Given the description of an element on the screen output the (x, y) to click on. 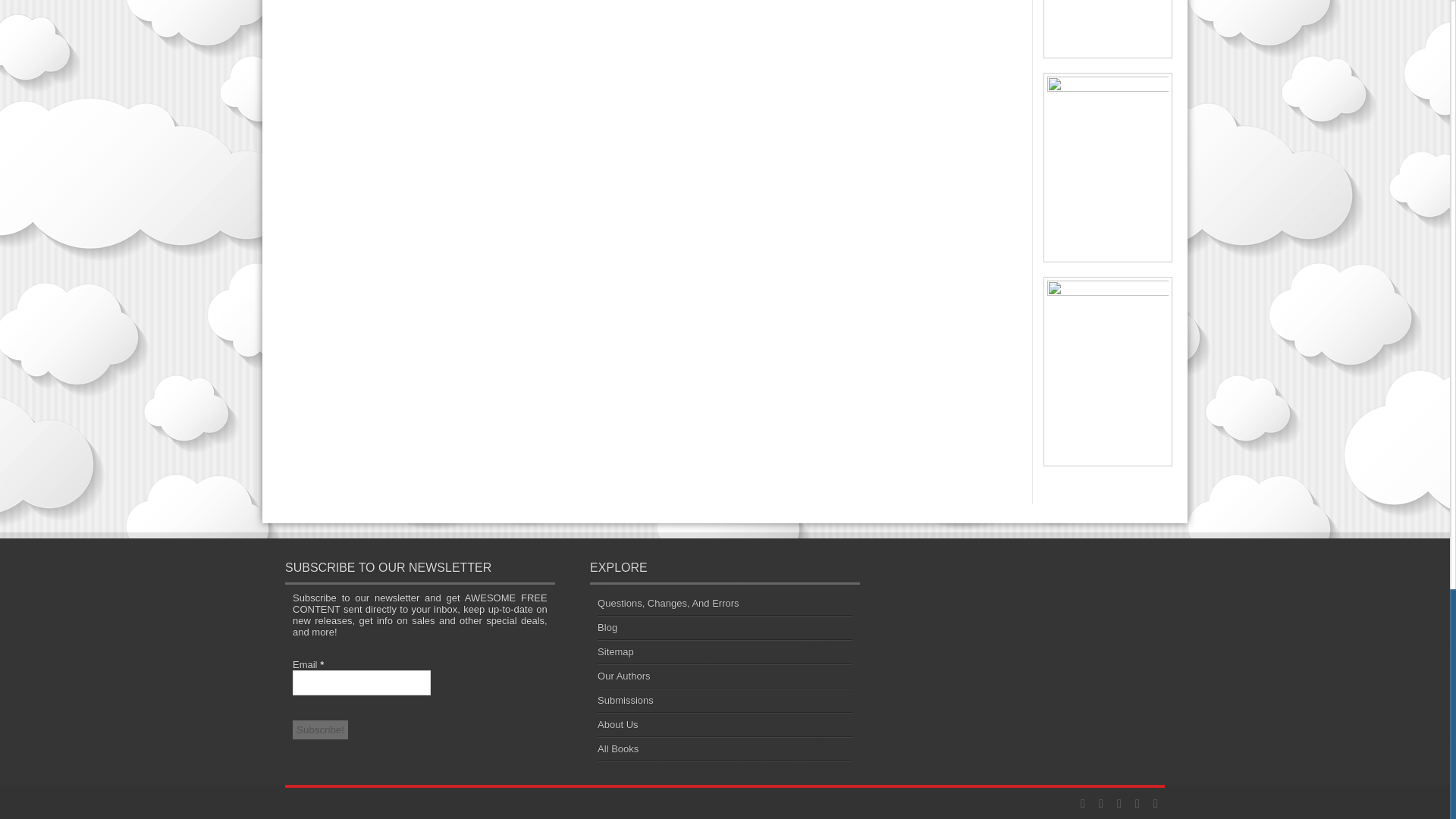
Subscribe! (319, 729)
Email (361, 682)
